Given the description of an element on the screen output the (x, y) to click on. 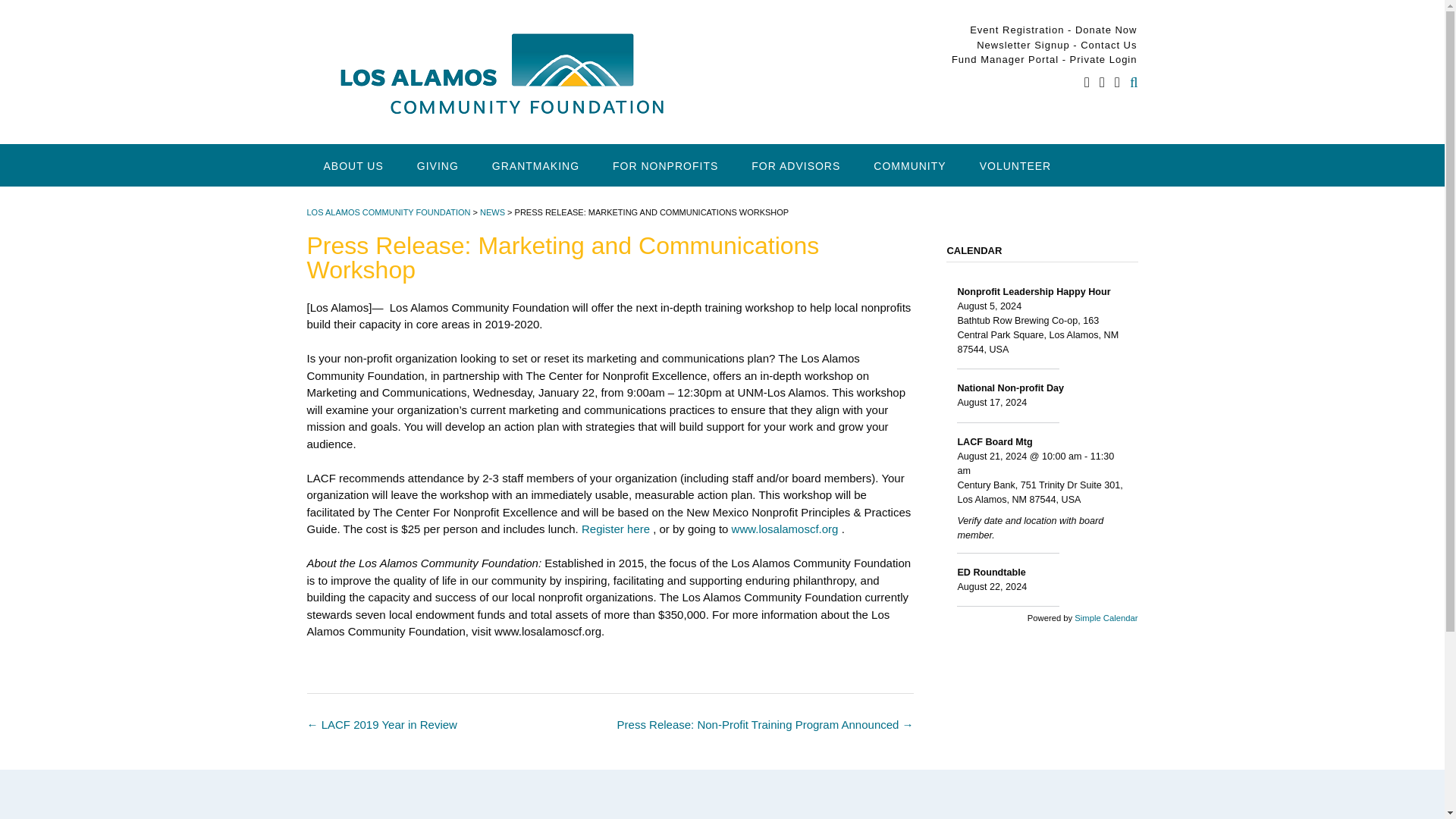
Contact Us (1108, 44)
Donate Now (1106, 30)
Fund Manager Portal (1007, 59)
COMMUNITY (909, 165)
Go to the News category archives. (492, 212)
Newsletter Signup (1023, 44)
Go to Los Alamos Community Foundation. (387, 212)
GRANTMAKING (535, 165)
FOR ADVISORS (796, 165)
FOR NONPROFITS (665, 165)
Private Login (1103, 59)
Event Registration (1016, 30)
Los Alamos Community Foundation (499, 72)
GIVING (438, 165)
